Given the description of an element on the screen output the (x, y) to click on. 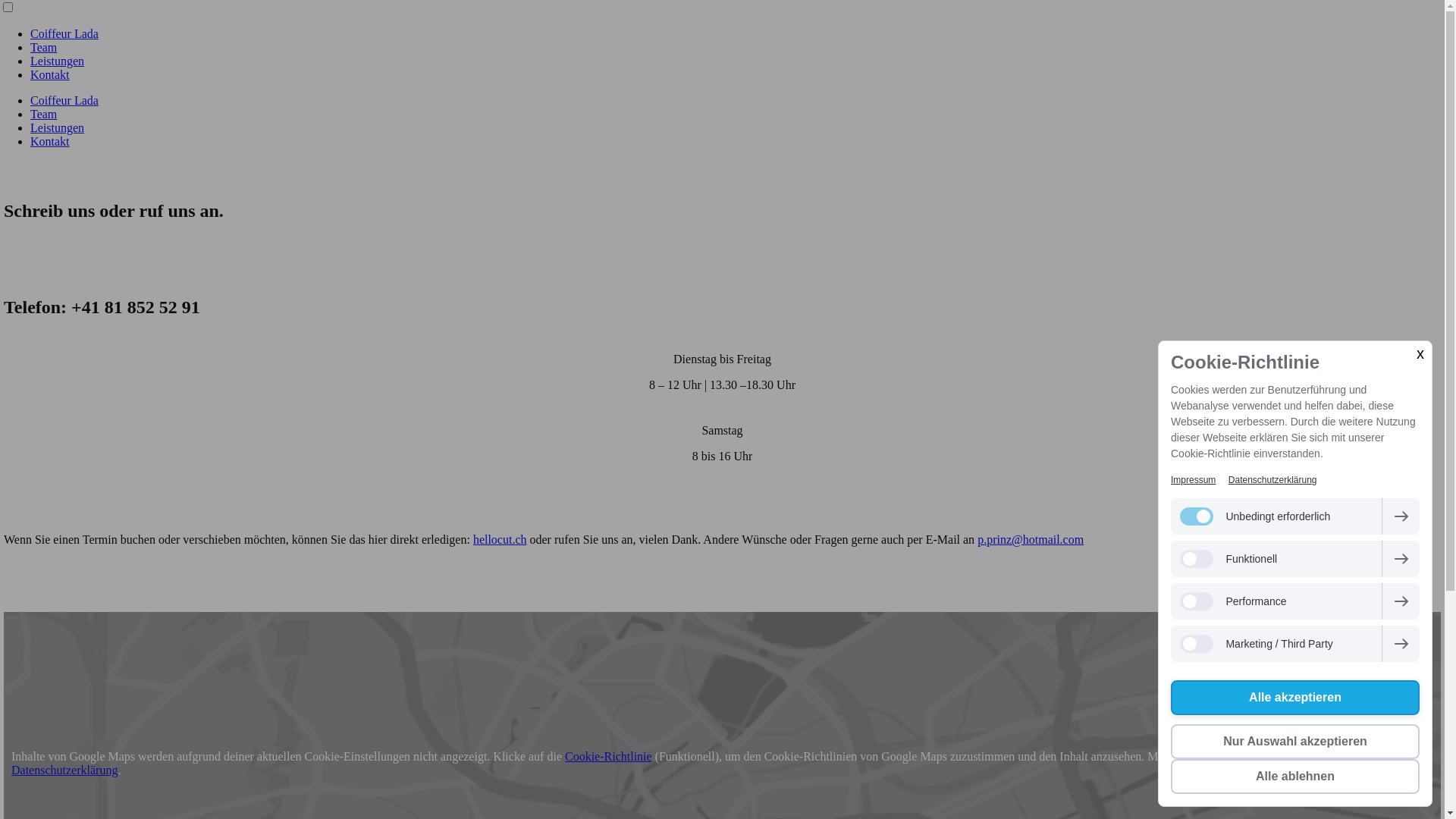
Leistungen Element type: text (57, 60)
Kontakt Element type: text (49, 140)
Team Element type: text (43, 46)
p.prinz@hotmail.com Element type: text (1030, 539)
Kontakt Element type: text (49, 74)
Cookie-Richtlinie Element type: text (608, 755)
hellocut.ch Element type: text (500, 539)
Impressum Element type: text (1192, 479)
Coiffeur Lada Element type: text (64, 100)
Alle akzeptieren Element type: text (1294, 697)
Nur Auswahl akzeptieren Element type: text (1294, 741)
Leistungen Element type: text (57, 127)
Coiffeur Lada Element type: text (64, 33)
Team Element type: text (43, 113)
Alle ablehnen Element type: text (1294, 776)
